Given the description of an element on the screen output the (x, y) to click on. 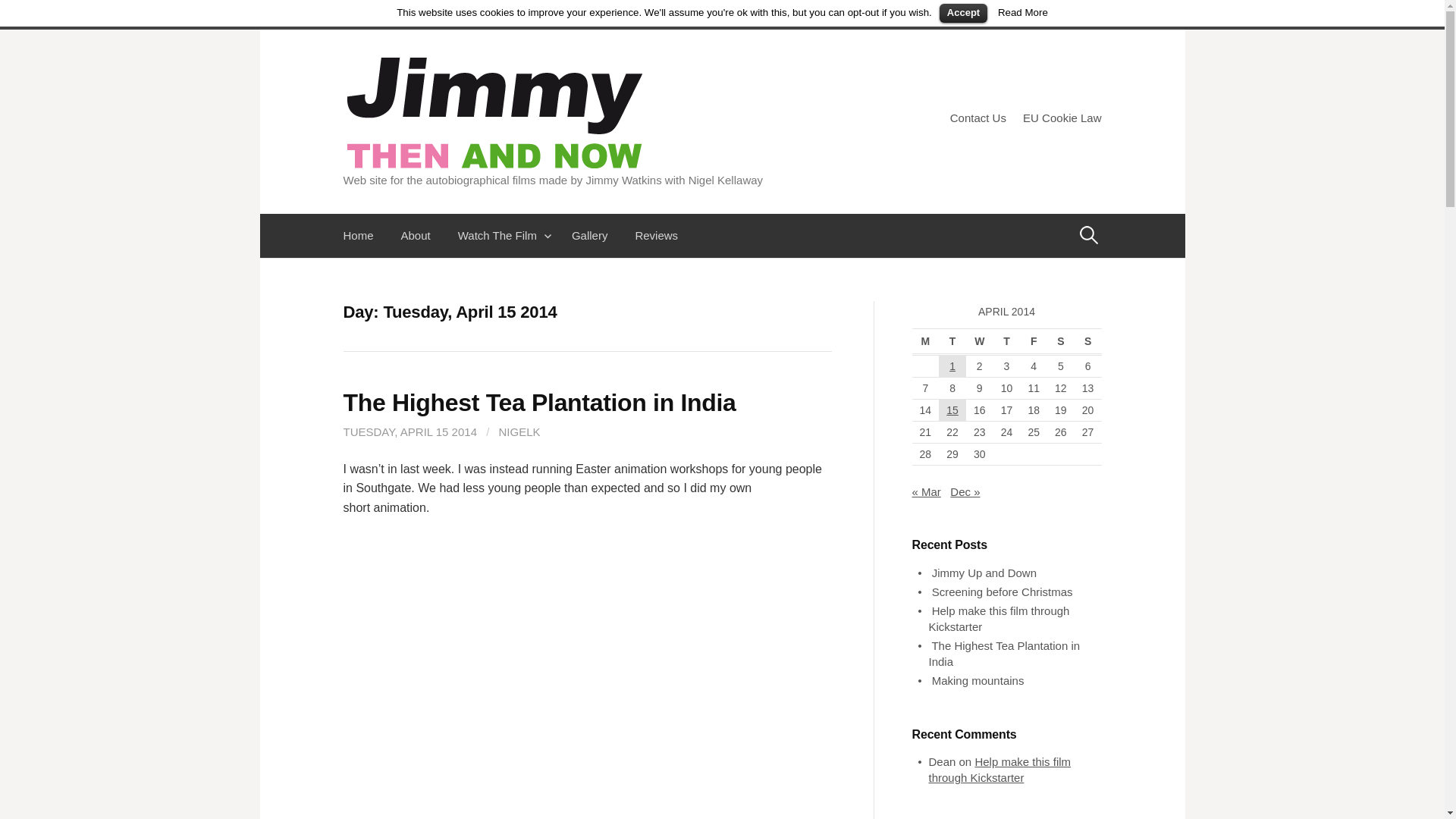
Saturday (1060, 340)
1 (952, 365)
Monday (925, 340)
Thursday (1006, 340)
Making mountains (978, 680)
Home (364, 235)
Tuesday (952, 340)
Help make this film through Kickstarter (999, 769)
The Highest Tea Plantation in India (1004, 653)
